Given the description of an element on the screen output the (x, y) to click on. 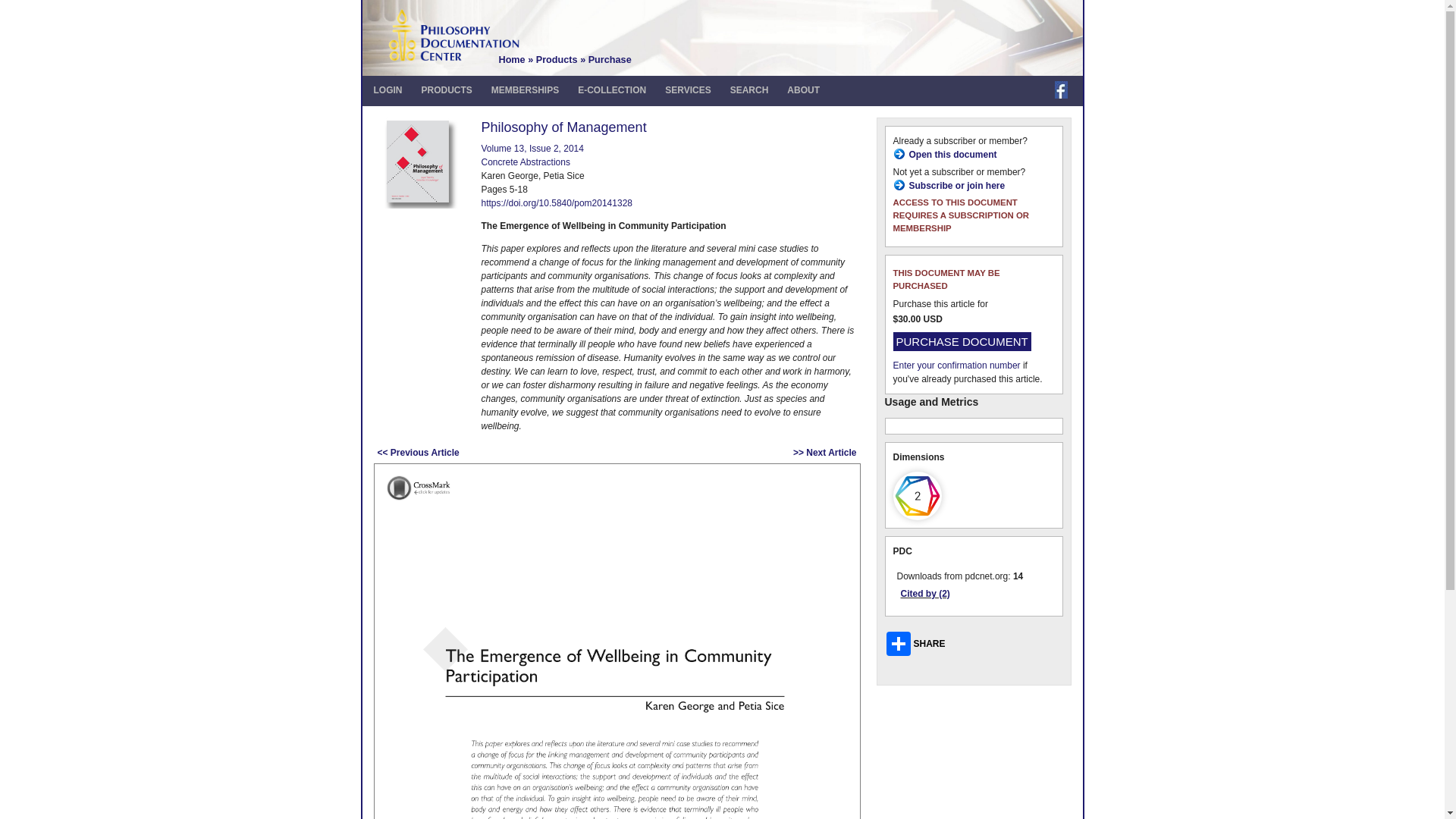
SERVICES (687, 90)
LOGIN (387, 90)
MEMBERSHIPS (524, 90)
PURCHASE DOCUMENT (961, 341)
E-COLLECTION (611, 90)
SEARCH (749, 90)
Home (512, 59)
ABOUT (802, 90)
PRODUCTS (446, 90)
